Given the description of an element on the screen output the (x, y) to click on. 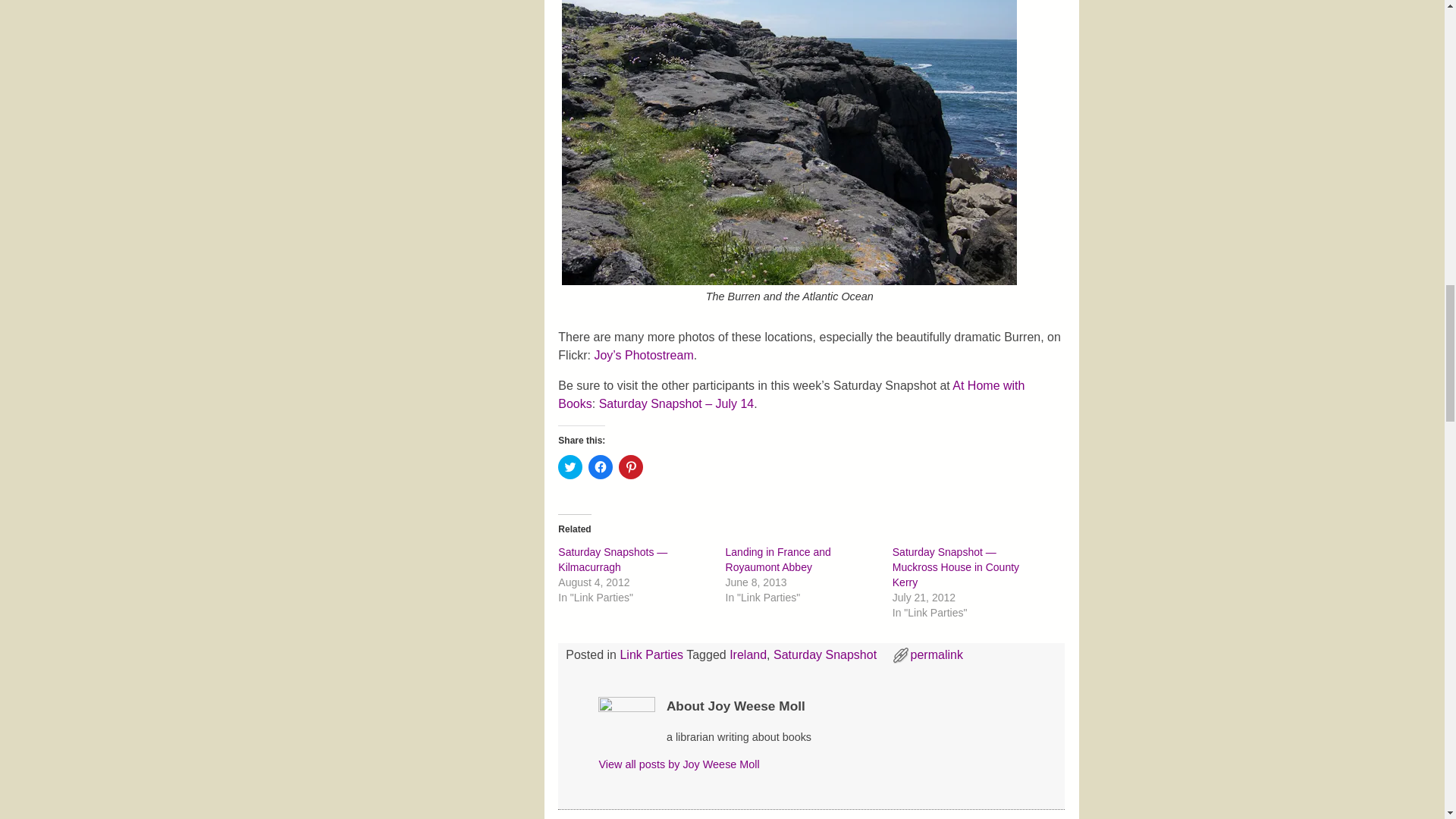
Ireland (748, 654)
Landing in France and Royaumont Abbey (778, 559)
Saturday Snapshot (824, 654)
View all posts by Joy Weese Moll (678, 764)
Landing in France and Royaumont Abbey (778, 559)
At Home with Books (791, 394)
permalink (936, 654)
Click to share on Pinterest (630, 467)
Click to share on Twitter (569, 467)
The Burren and the Atlantic Ocean (789, 142)
Link Parties (651, 654)
Click to share on Facebook (600, 467)
